Given the description of an element on the screen output the (x, y) to click on. 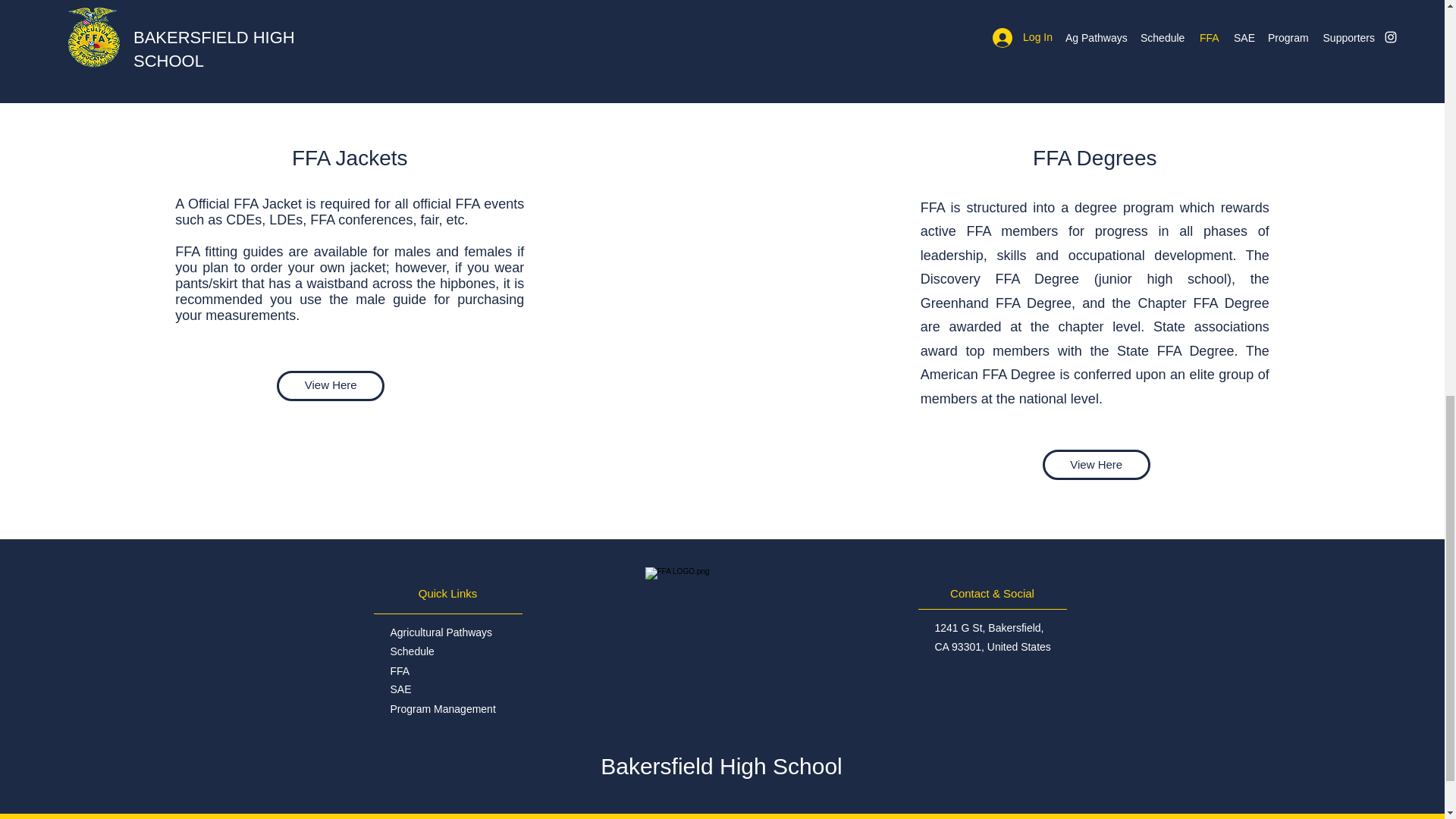
View Here (330, 385)
FFA (399, 671)
Agricultural Pathways (441, 632)
Program Management (442, 708)
Schedule (411, 651)
SAE (400, 689)
1241 G St, Bakersfield, CA 93301, United States (991, 636)
View Here (1096, 464)
